Given the description of an element on the screen output the (x, y) to click on. 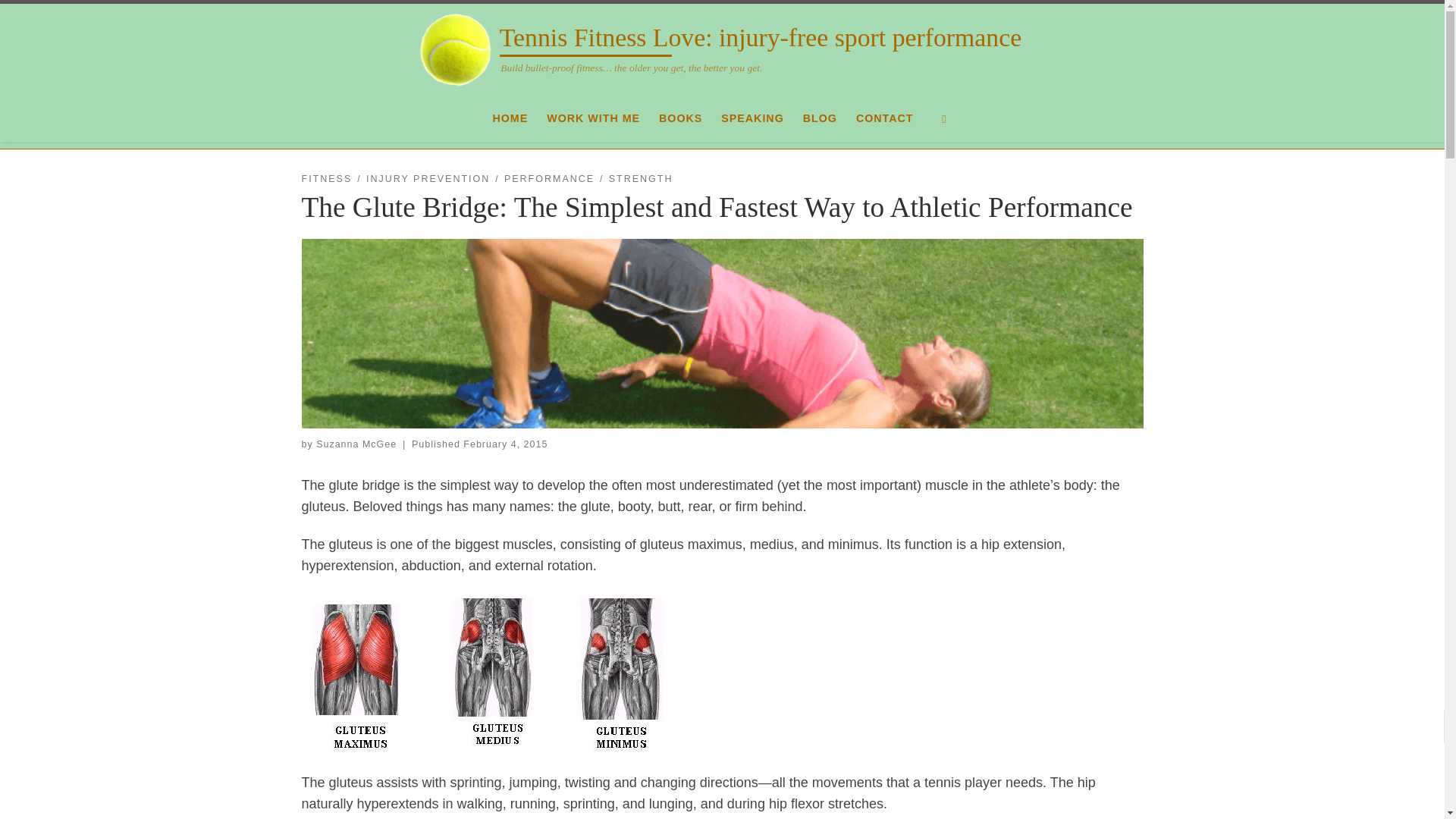
View all posts in Injury Prevention (427, 178)
SPEAKING (752, 118)
FITNESS (326, 178)
Suzanna McGee (355, 443)
STRENGTH (640, 178)
PERFORMANCE (548, 178)
Skip to content (60, 20)
February 4, 2015 (505, 443)
WORK WITH ME (593, 118)
HOME (509, 118)
